Given the description of an element on the screen output the (x, y) to click on. 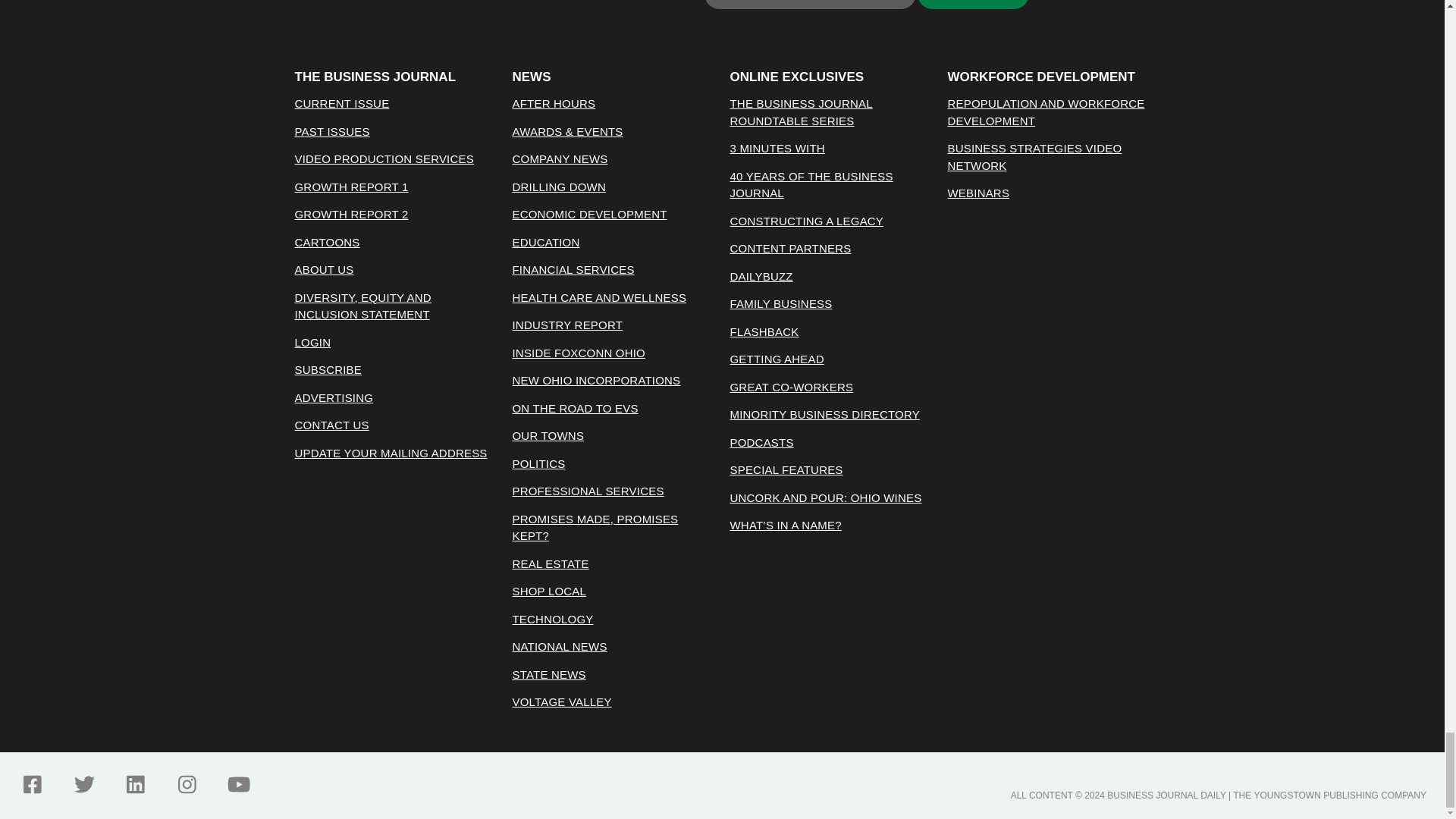
Sign Up (973, 4)
YouTube (238, 783)
Twitter (84, 783)
